Given the description of an element on the screen output the (x, y) to click on. 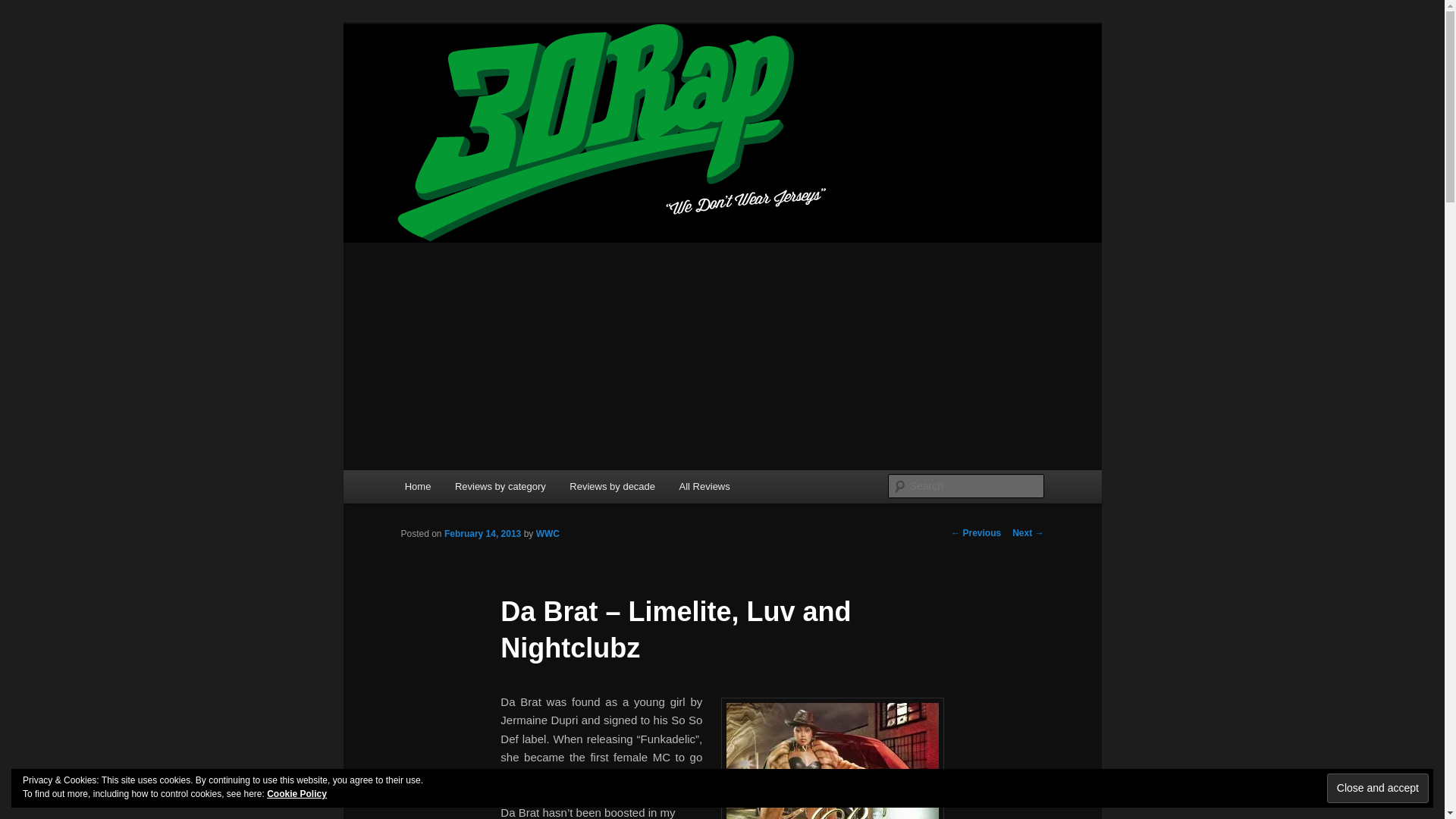
Close and accept (1377, 788)
30rap (430, 78)
WWC (547, 533)
Reviews by category (499, 486)
Reviews by decade (611, 486)
Search (24, 8)
All Reviews (704, 486)
View all posts by WWC (547, 533)
Home (417, 486)
2:29 PM (482, 533)
February 14, 2013 (482, 533)
